Given the description of an element on the screen output the (x, y) to click on. 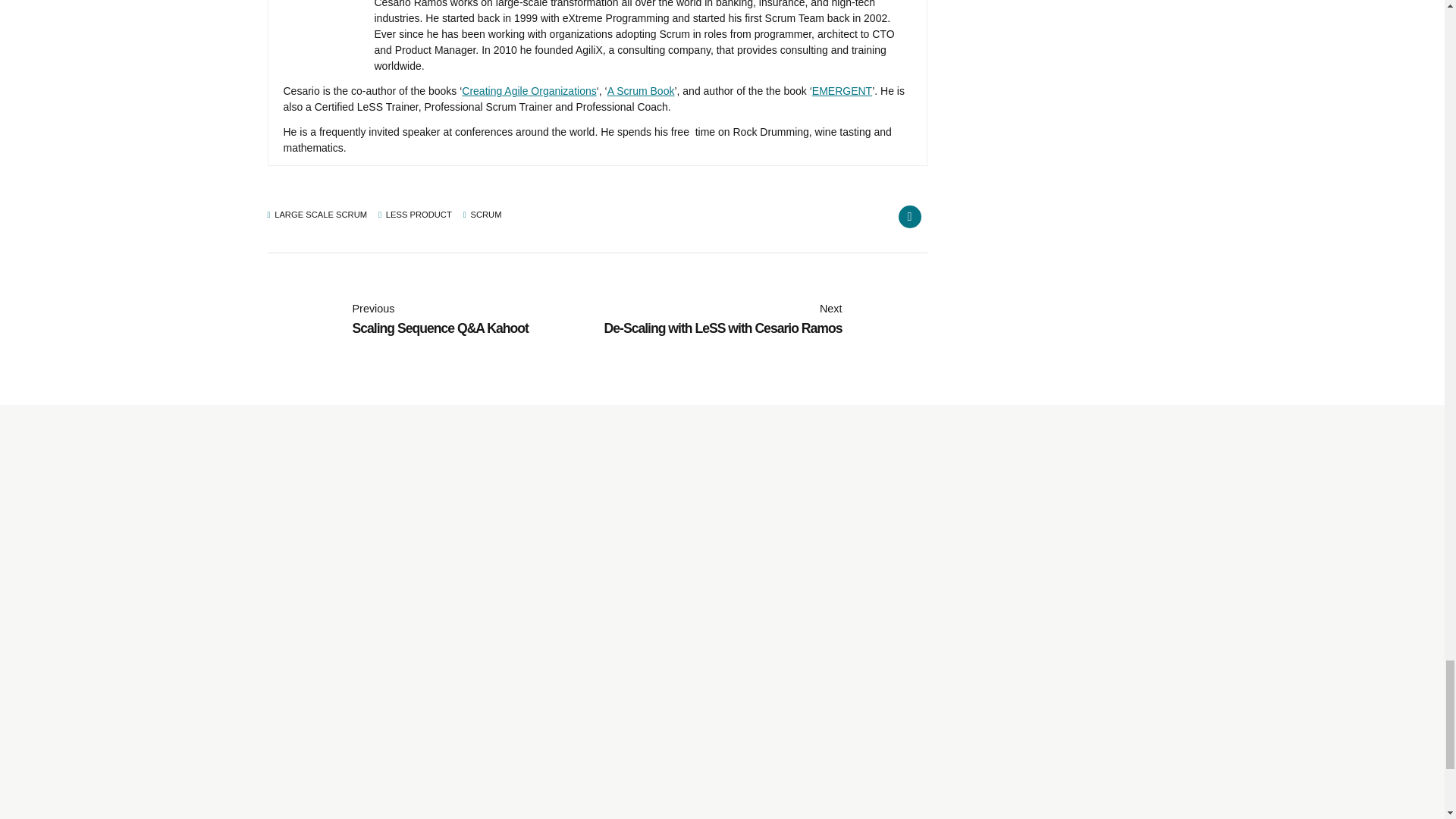
Share on Linkedin (909, 216)
